Given the description of an element on the screen output the (x, y) to click on. 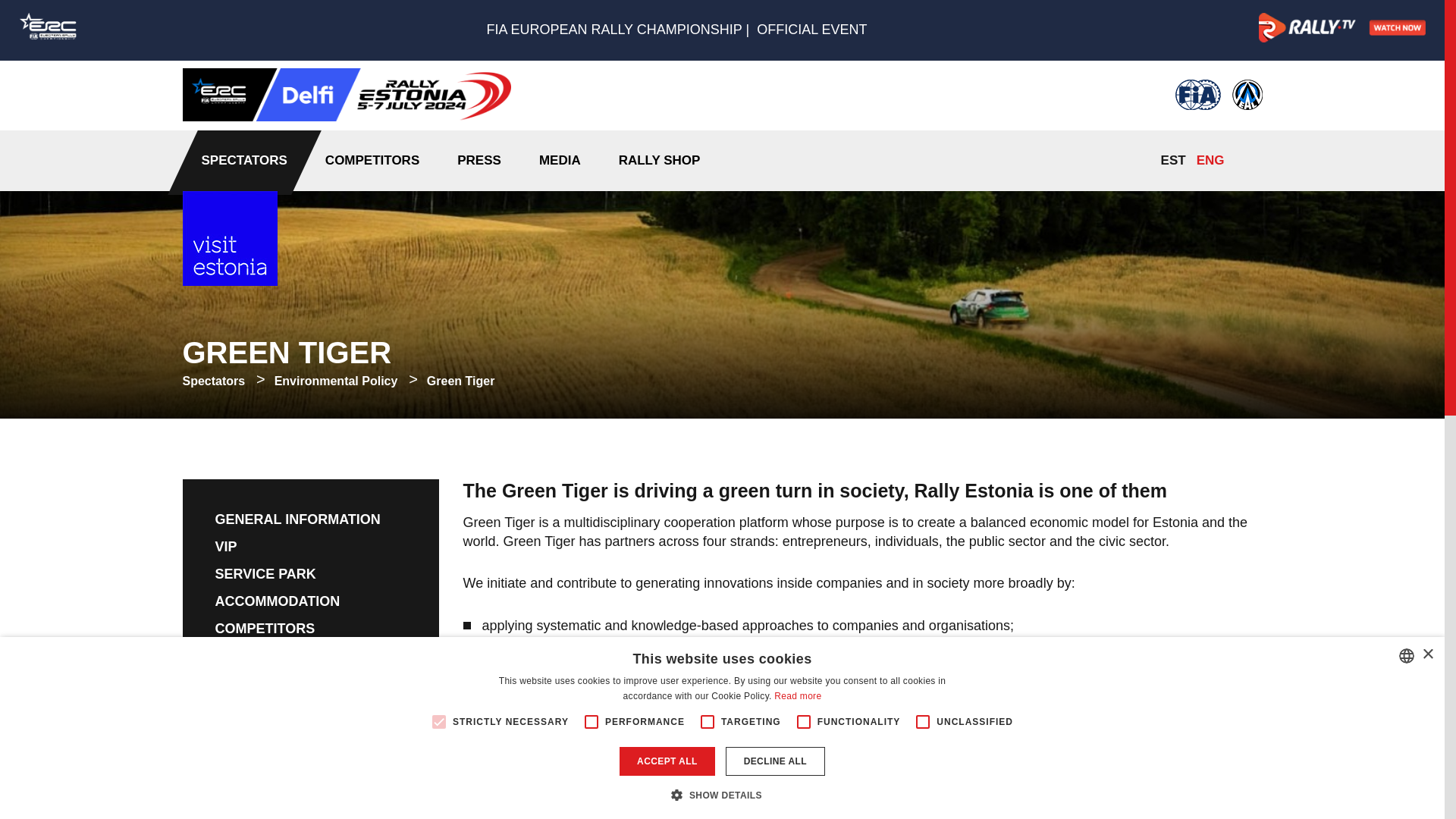
SPECTATORS (243, 160)
COMPETITORS (371, 160)
EST (1173, 160)
ENG (1210, 160)
